Given the description of an element on the screen output the (x, y) to click on. 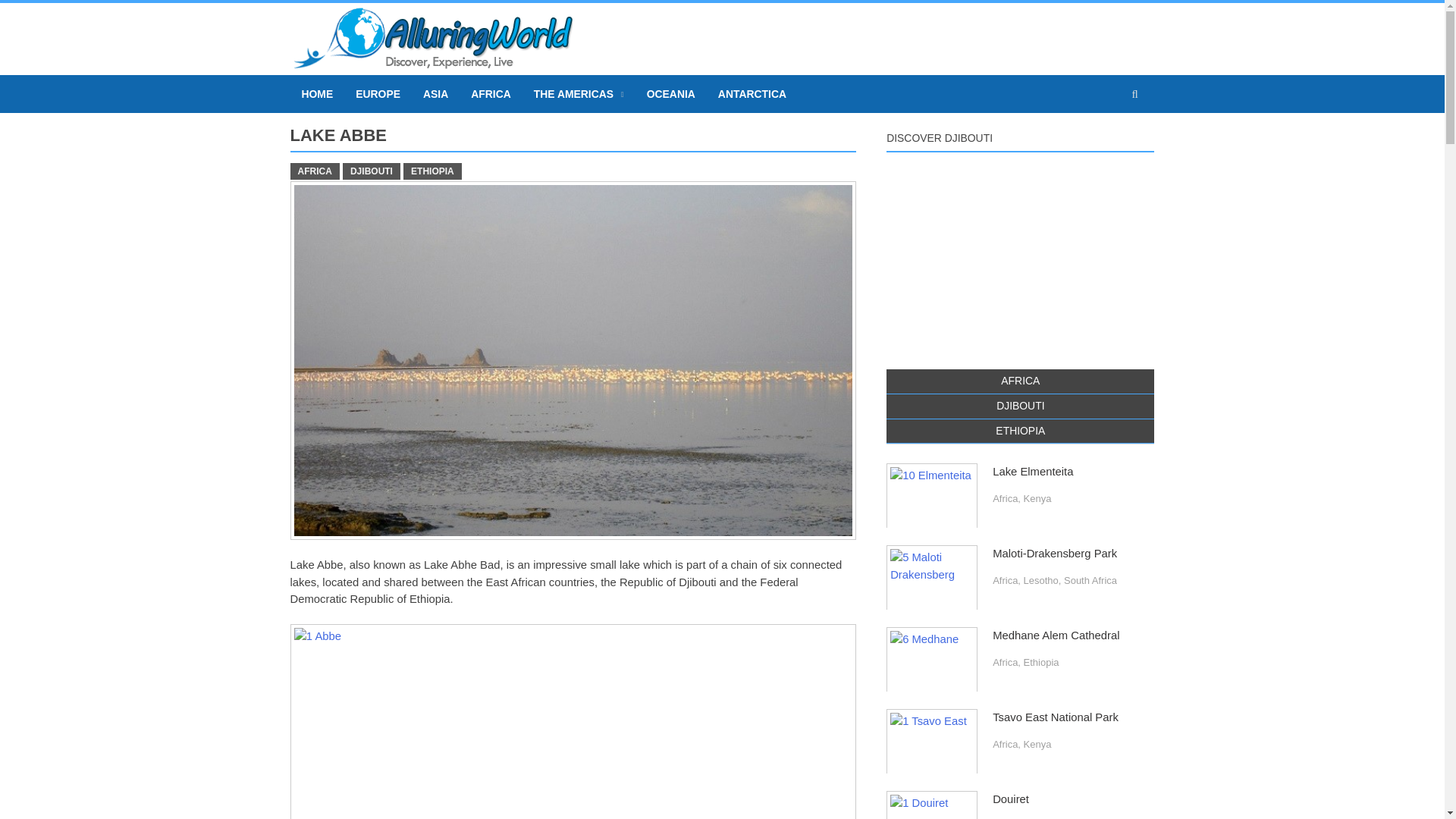
EUROPE (377, 94)
AFRICA (314, 170)
AFRICA (1020, 381)
ANTARCTICA (751, 94)
AFRICA (491, 94)
HOME (316, 94)
ETHIOPIA (432, 170)
ASIA (436, 94)
ETHIOPIA (1020, 431)
OCEANIA (670, 94)
THE AMERICAS (578, 94)
DJIBOUTI (371, 170)
DJIBOUTI (1020, 405)
Source: flickr.com by Amira Elwakil  (572, 721)
